Given the description of an element on the screen output the (x, y) to click on. 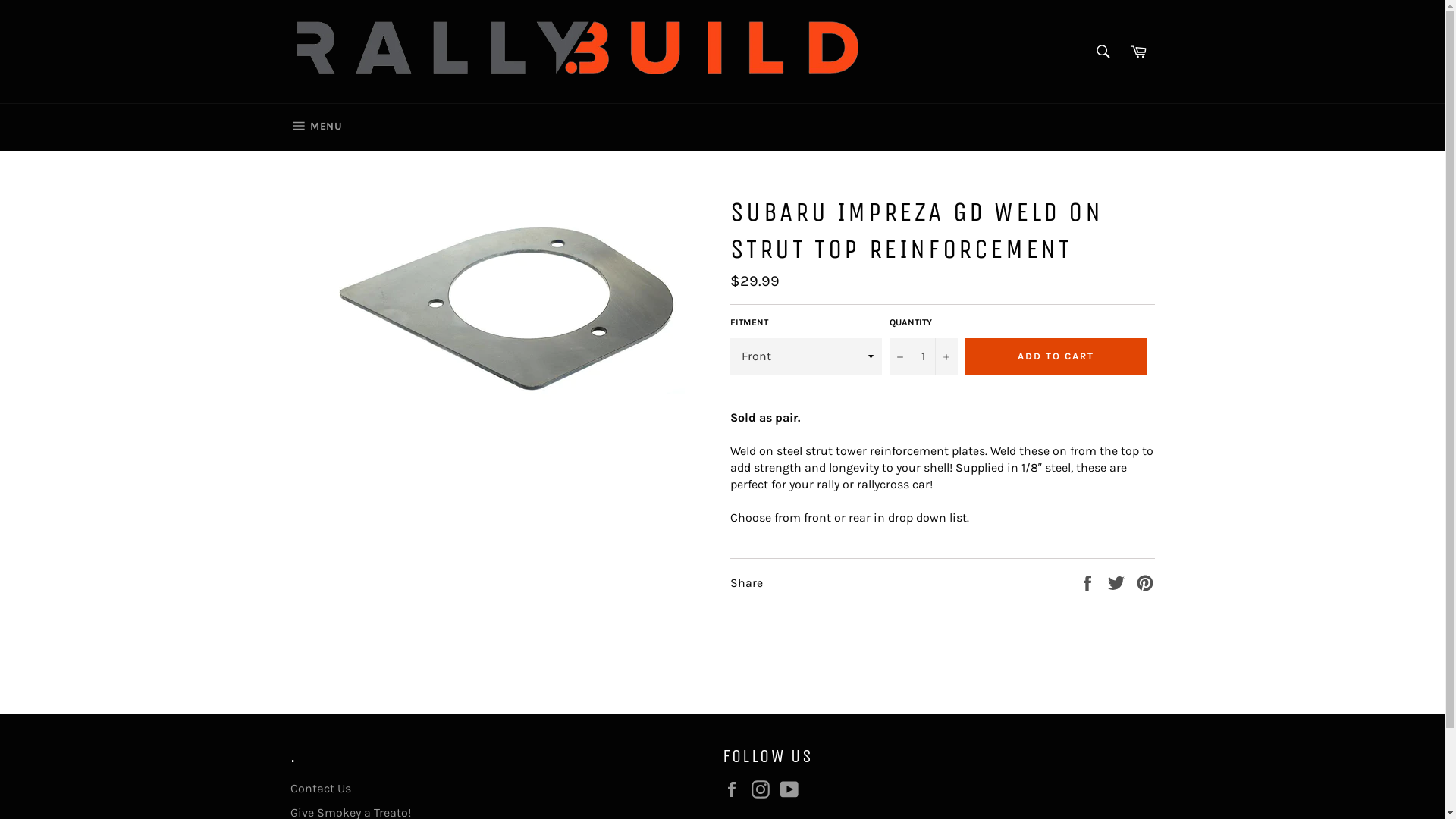
Facebook Element type: text (734, 789)
MENU
SITE NAVIGATION Element type: text (315, 126)
YouTube Element type: text (792, 789)
Share on Facebook Element type: text (1088, 581)
ADD TO CART Element type: text (1055, 356)
Contact Us Element type: text (319, 788)
Pin on Pinterest Element type: text (1144, 581)
Search Element type: text (1103, 51)
+ Element type: text (945, 356)
Cart Element type: text (1138, 51)
Tweet on Twitter Element type: text (1117, 581)
Instagram Element type: text (763, 789)
